Given the description of an element on the screen output the (x, y) to click on. 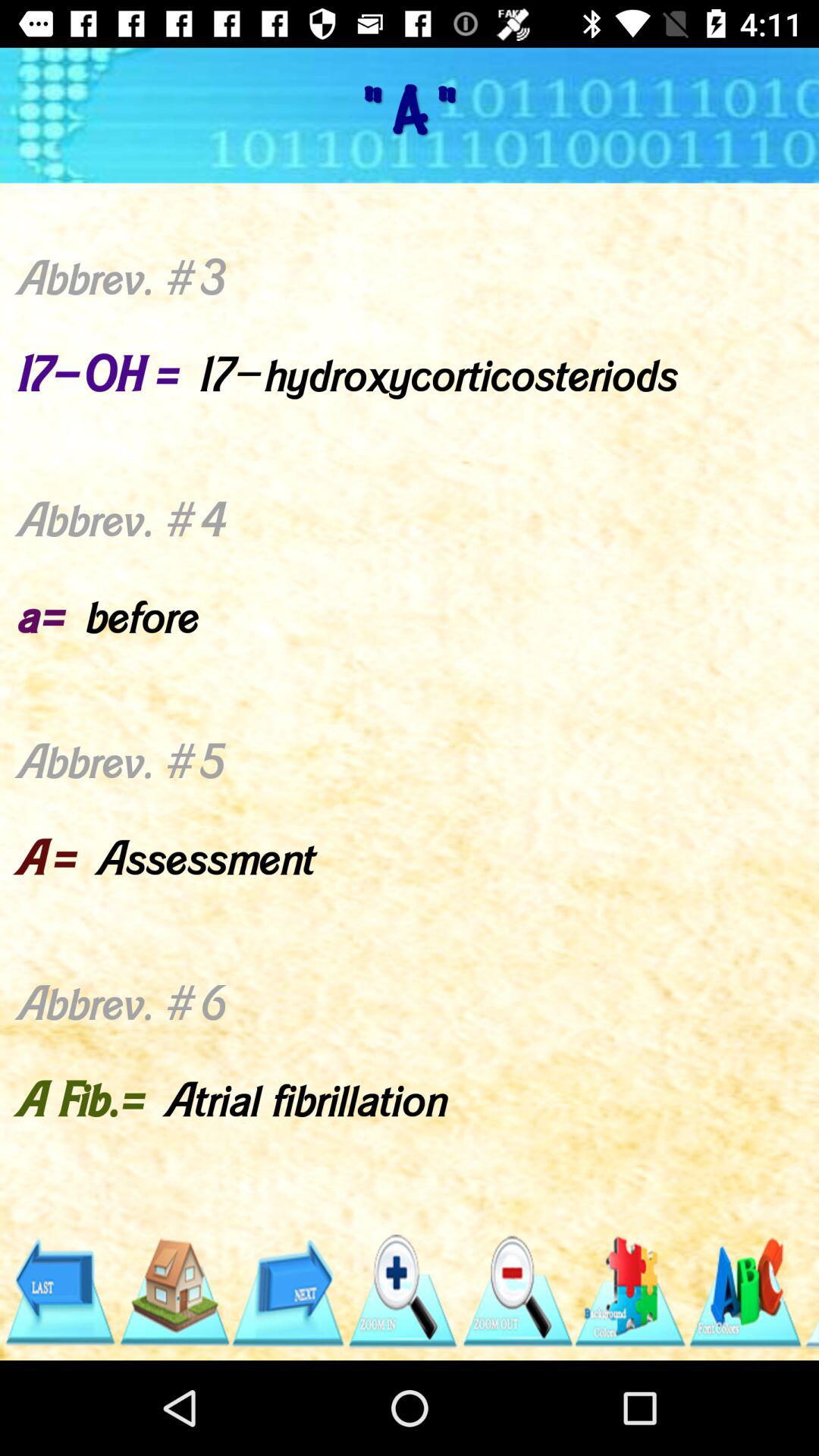
zoom (402, 1291)
